Given the description of an element on the screen output the (x, y) to click on. 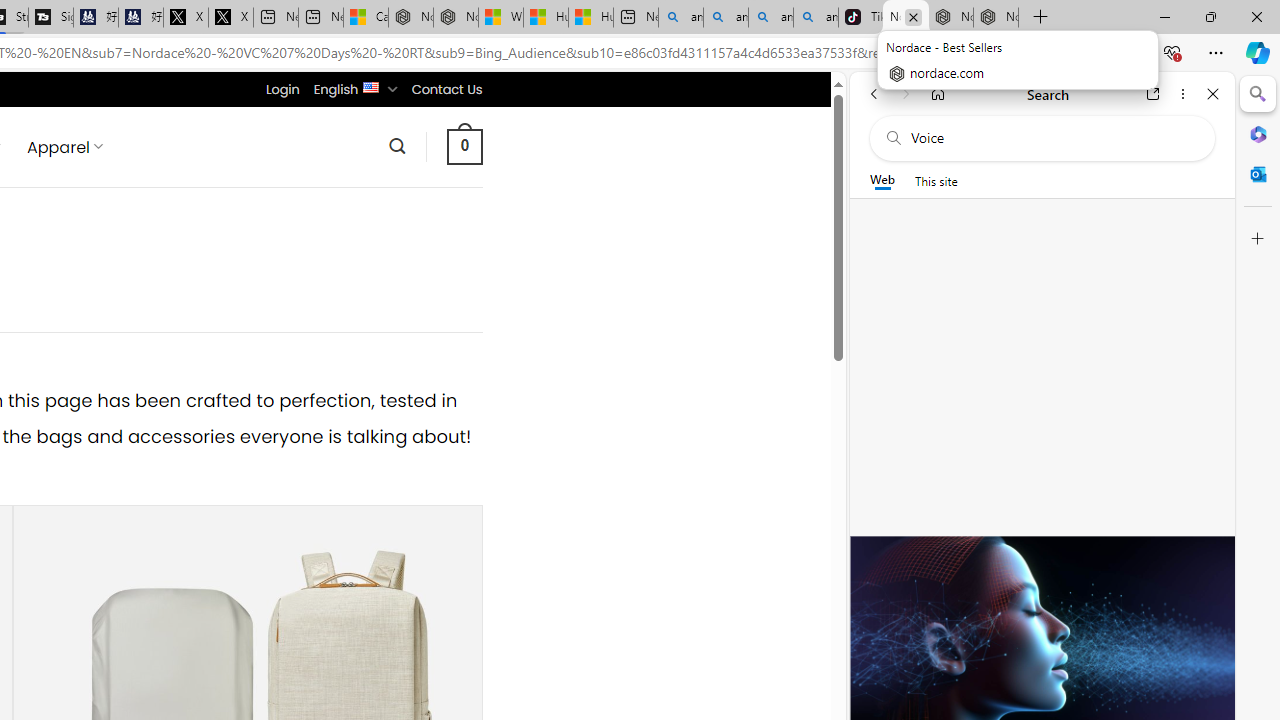
Read aloud this page (Ctrl+Shift+U) (991, 53)
Nordace - Siena Pro 15 Essential Set (995, 17)
X (230, 17)
Contact Us (446, 89)
amazon - Search Images (815, 17)
This site has coupons! Shopping in Microsoft Edge (950, 53)
